Given the description of an element on the screen output the (x, y) to click on. 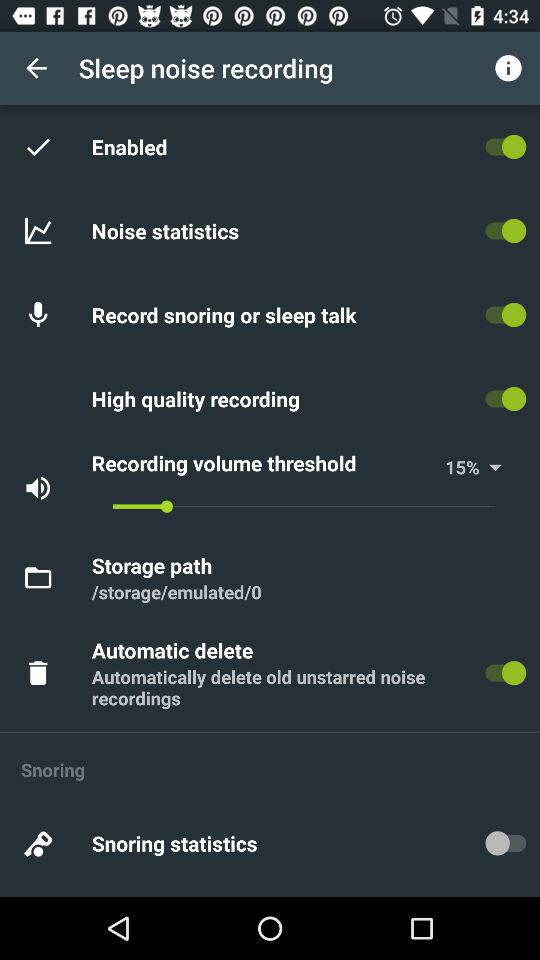
swipe to the enabled icon (132, 146)
